Given the description of an element on the screen output the (x, y) to click on. 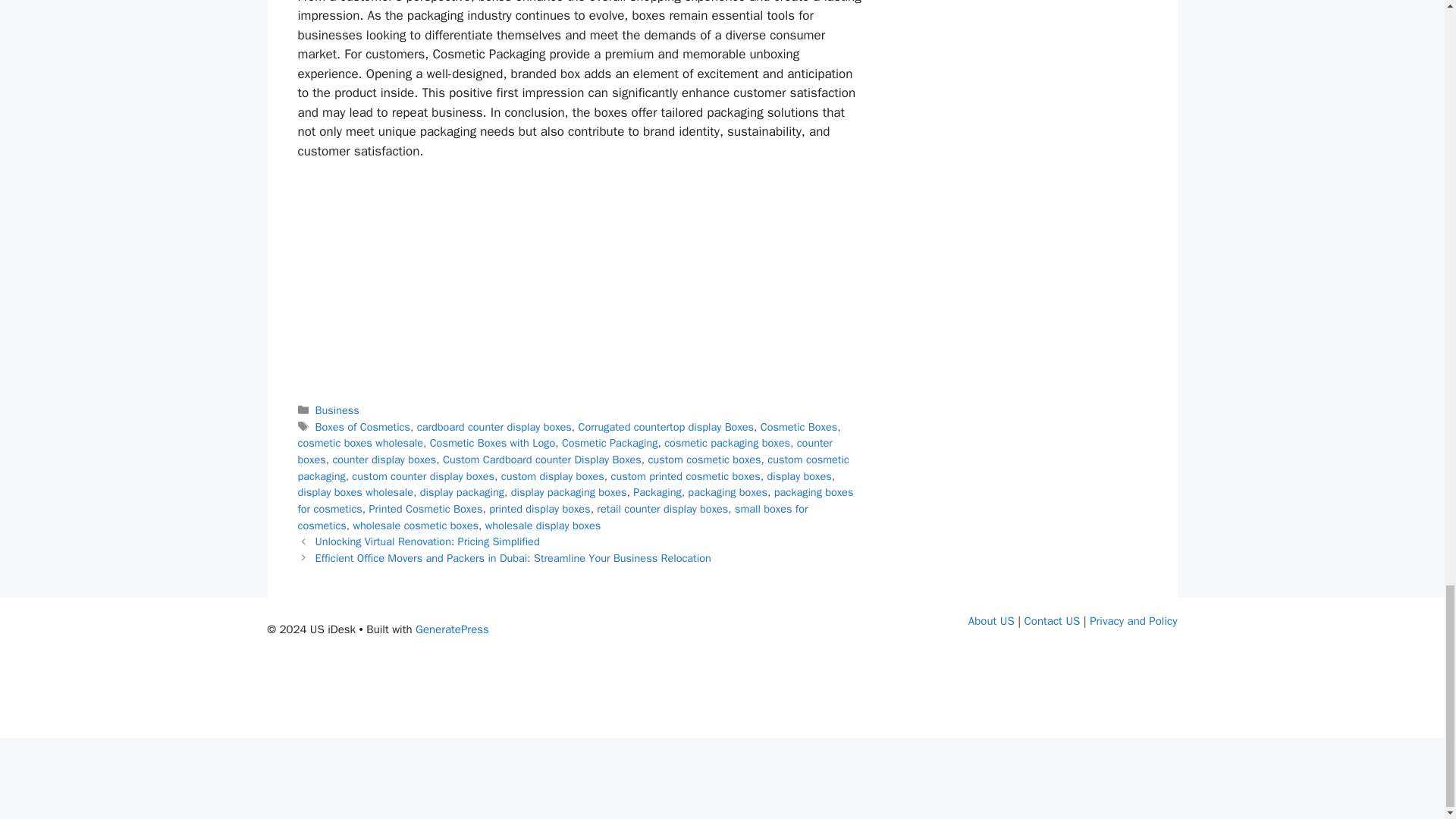
Corrugated countertop display Boxes (666, 427)
display packaging (461, 491)
Cosmetic Boxes (799, 427)
Advertisement (721, 779)
Custom Cardboard counter Display Boxes (542, 459)
Boxes of Cosmetics (362, 427)
custom counter display boxes (423, 476)
Business (337, 409)
cosmetic boxes wholesale (360, 442)
display packaging boxes (569, 491)
custom cosmetic packaging (572, 467)
custom cosmetic boxes (703, 459)
Advertisement (721, 703)
custom display boxes (552, 476)
Cosmetic Packaging (610, 442)
